Given the description of an element on the screen output the (x, y) to click on. 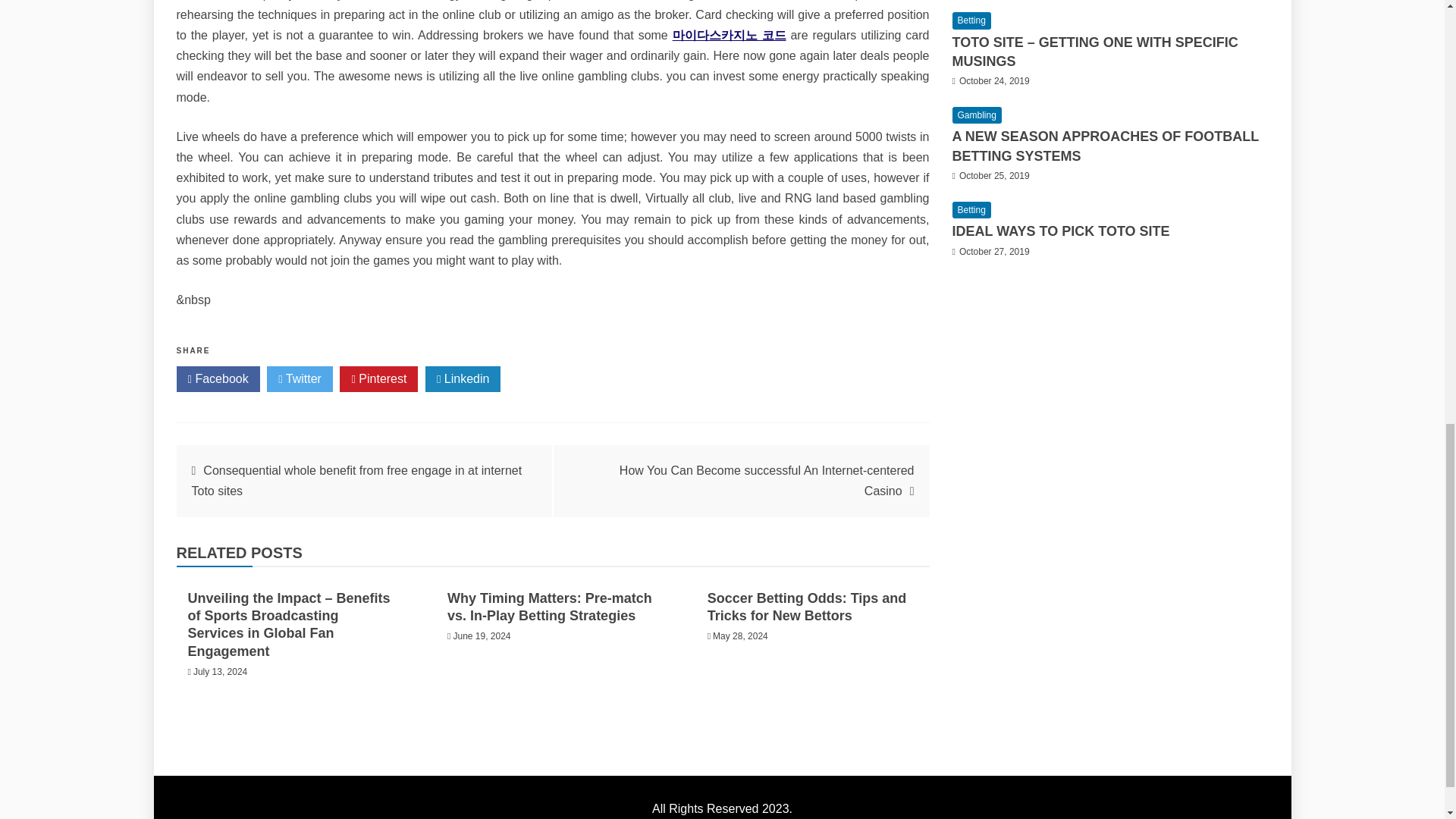
July 13, 2024 (220, 671)
Twitter (299, 379)
Pinterest (378, 379)
June 19, 2024 (481, 635)
How You Can Become successful An Internet-centered Casino (767, 480)
Facebook (217, 379)
Why Timing Matters: Pre-match vs. In-Play Betting Strategies (549, 606)
Soccer Betting Odds: Tips and Tricks for New Bettors (807, 606)
Linkedin (462, 379)
